Given the description of an element on the screen output the (x, y) to click on. 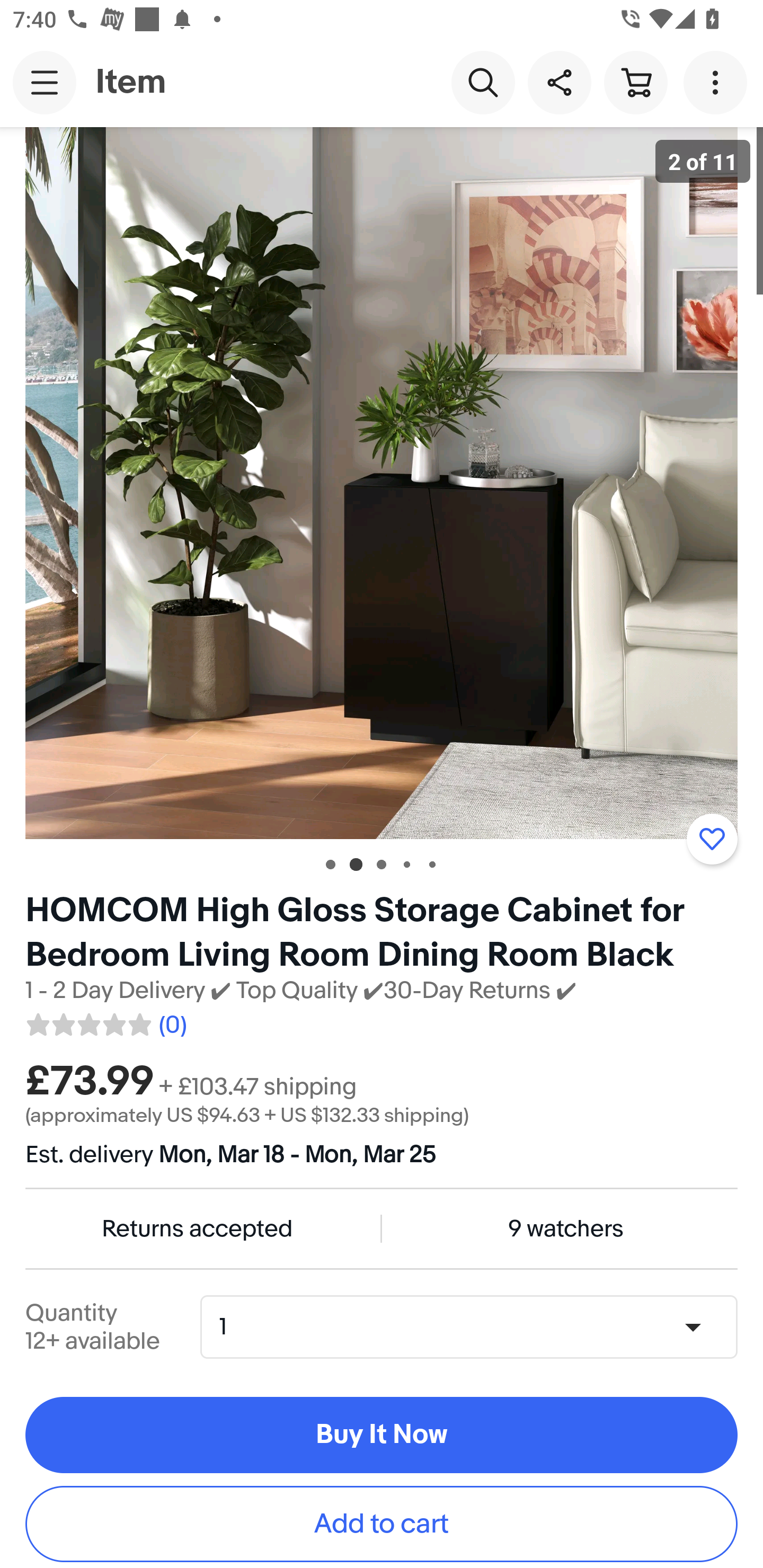
Main navigation, open (44, 82)
Search (482, 81)
Share this item (559, 81)
Cart button shopping cart (635, 81)
More options (718, 81)
Item image 2 of 11 (381, 482)
Add to watchlist (711, 838)
1 - 2 Day Delivery ✔ Top Quality ✔30-Day Returns ✔ (300, 990)
0 reviews. Average rating 0.0 out of five 0.0 (0) (105, 1021)
Quantity,1,12+ available 1 (474, 1326)
Buy It Now (381, 1435)
Add to cart (381, 1523)
